Given the description of an element on the screen output the (x, y) to click on. 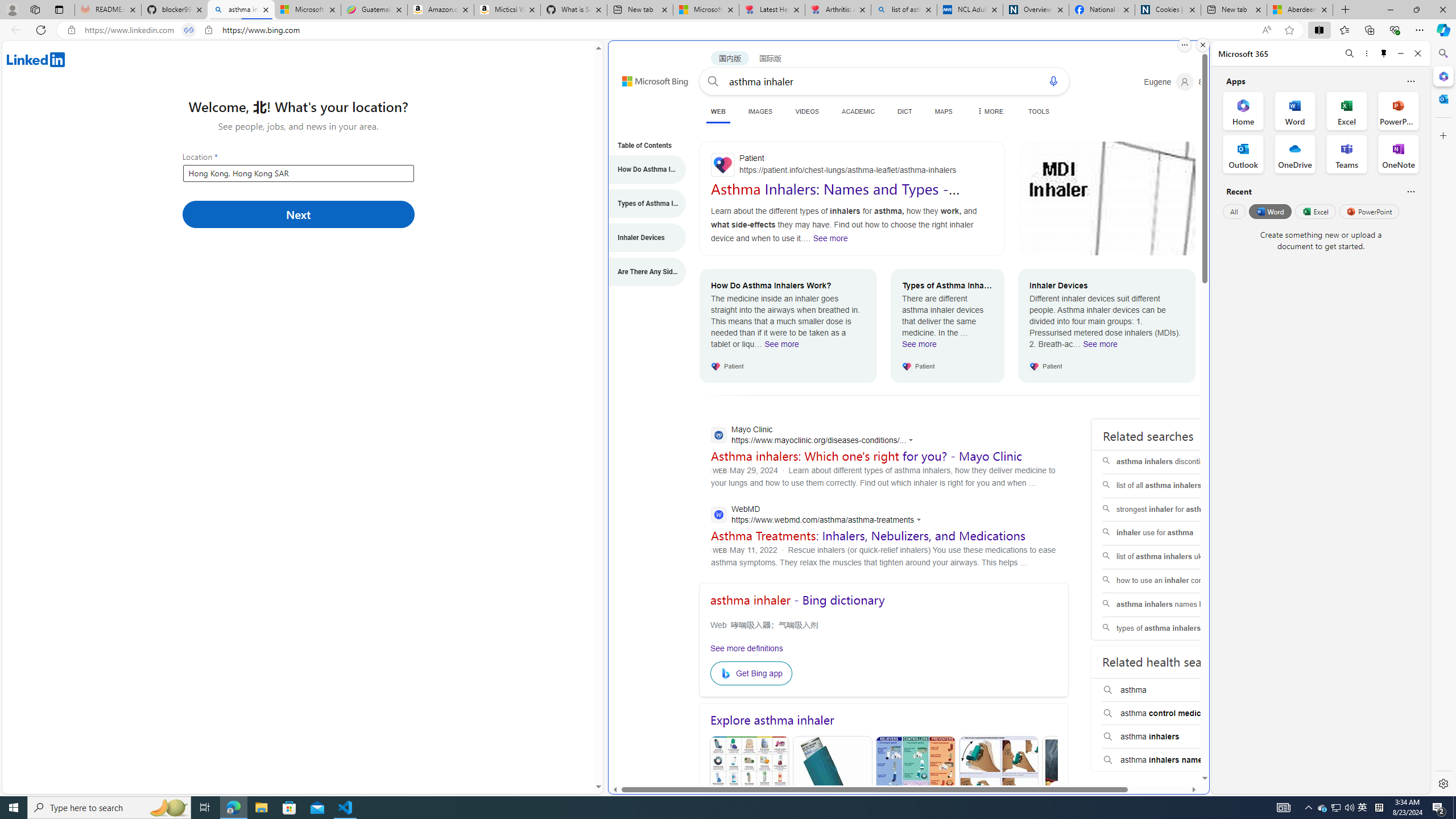
DICT (904, 111)
asthma inhalers discontinued (1174, 462)
ACADEMIC (858, 111)
Is this helpful? (1410, 191)
MAPS (943, 111)
Search more (1179, 744)
Teams Office App (1346, 154)
